Given the description of an element on the screen output the (x, y) to click on. 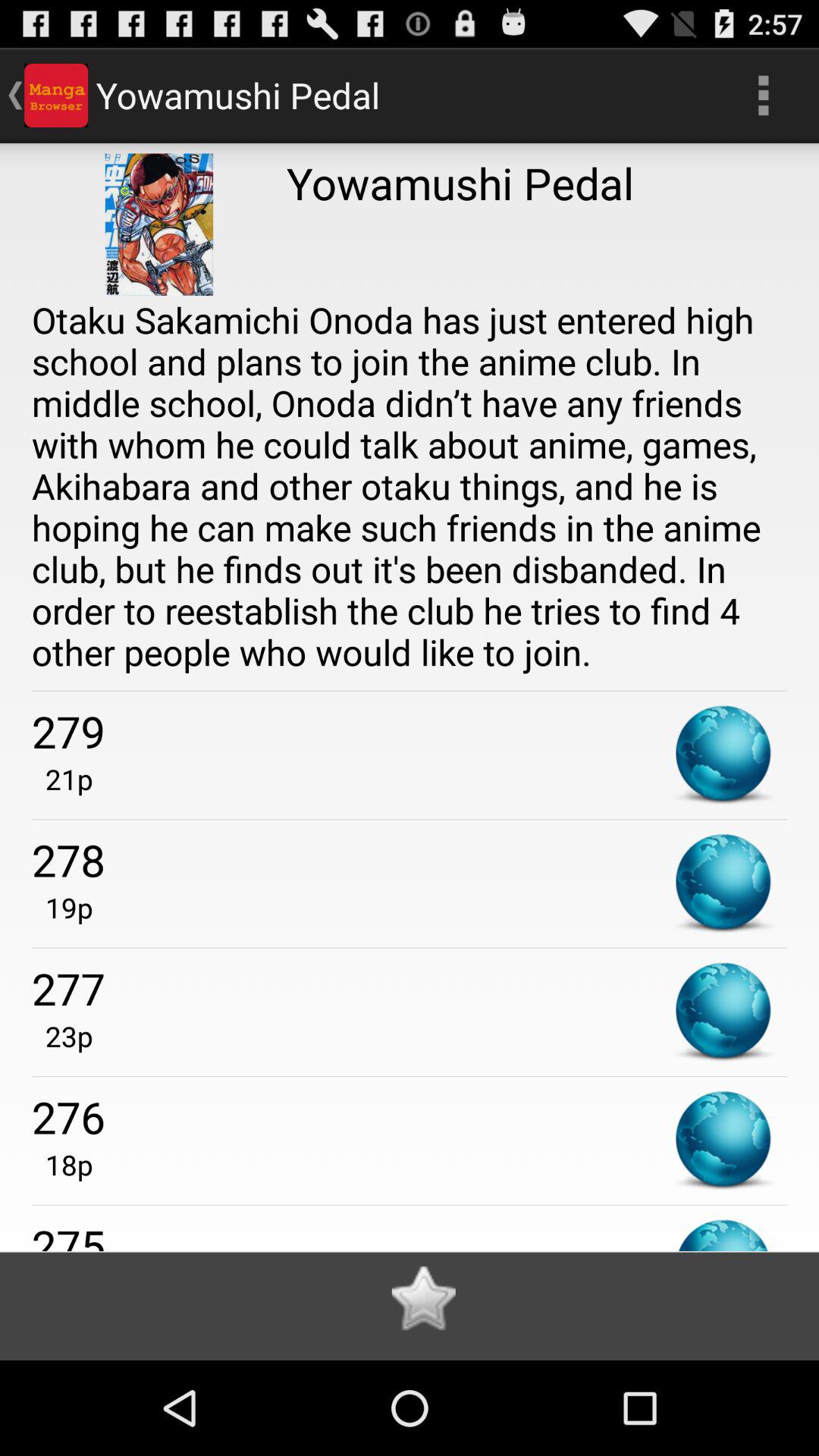
jump to otaku sakamichi onoda item (409, 485)
